Given the description of an element on the screen output the (x, y) to click on. 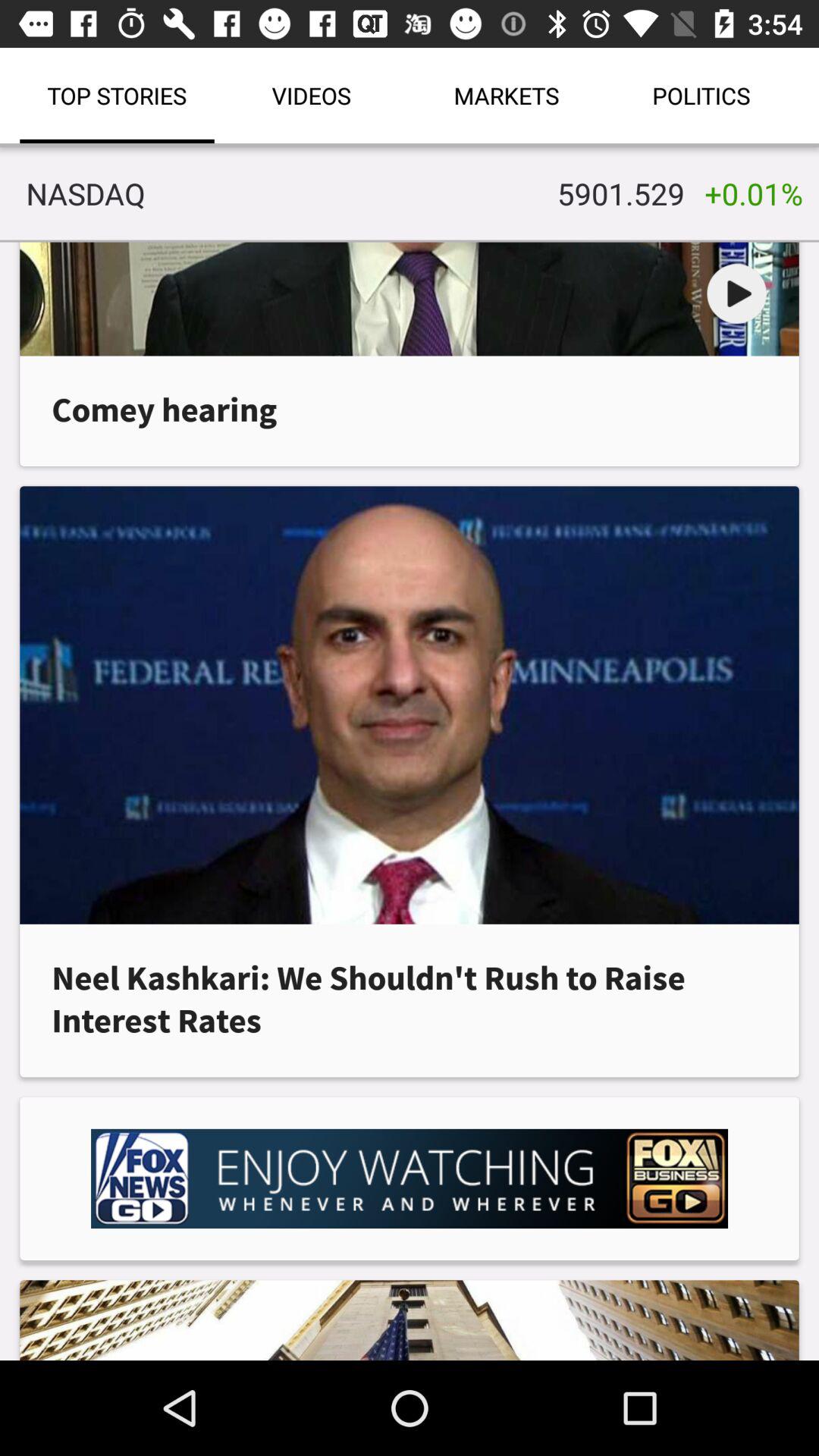
interact with advertisement (409, 1178)
